Given the description of an element on the screen output the (x, y) to click on. 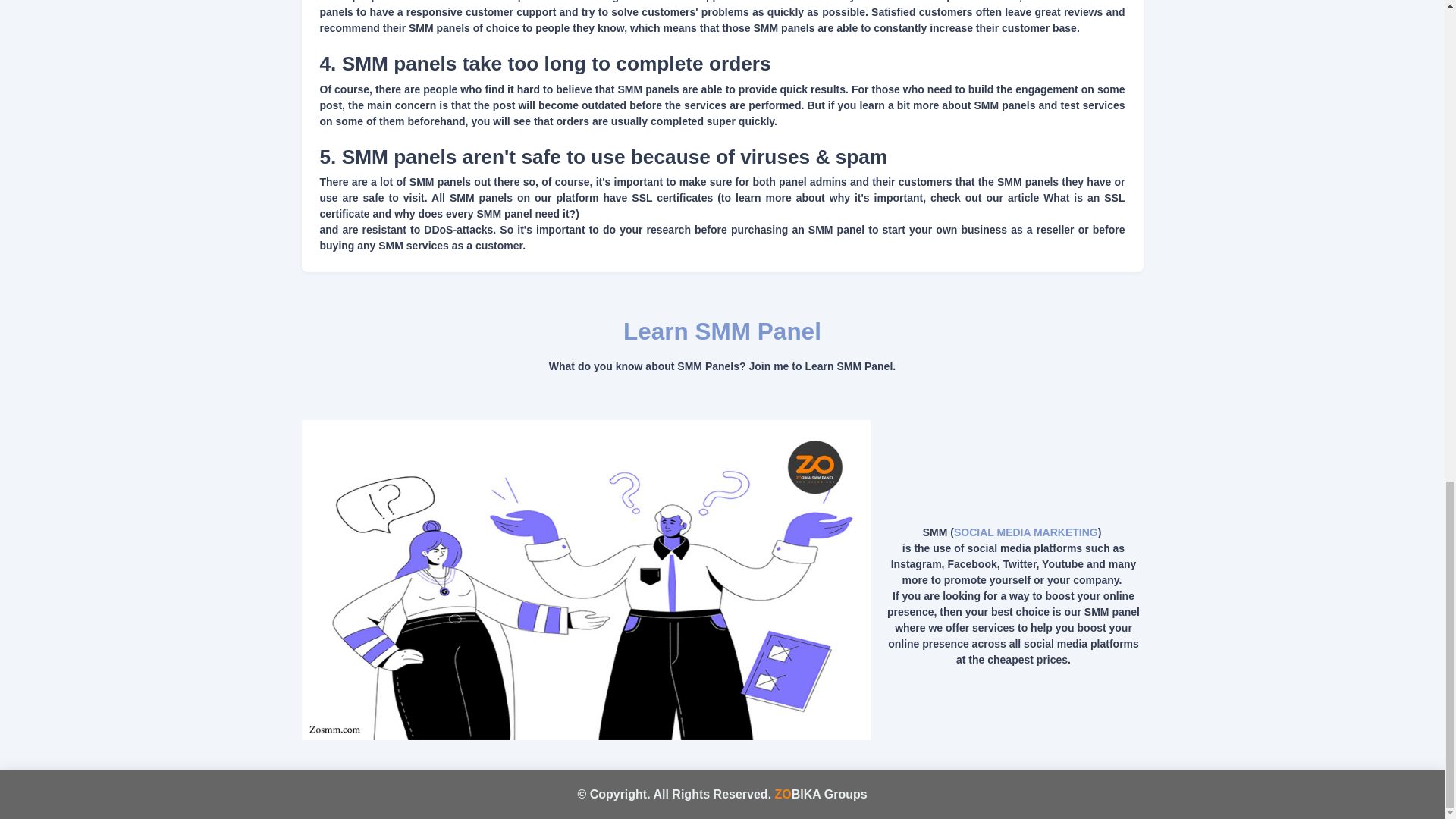
SOCIAL MEDIA MARKETING (1025, 532)
Learn SMM Panel (722, 330)
ZOBIKA (797, 793)
